Given the description of an element on the screen output the (x, y) to click on. 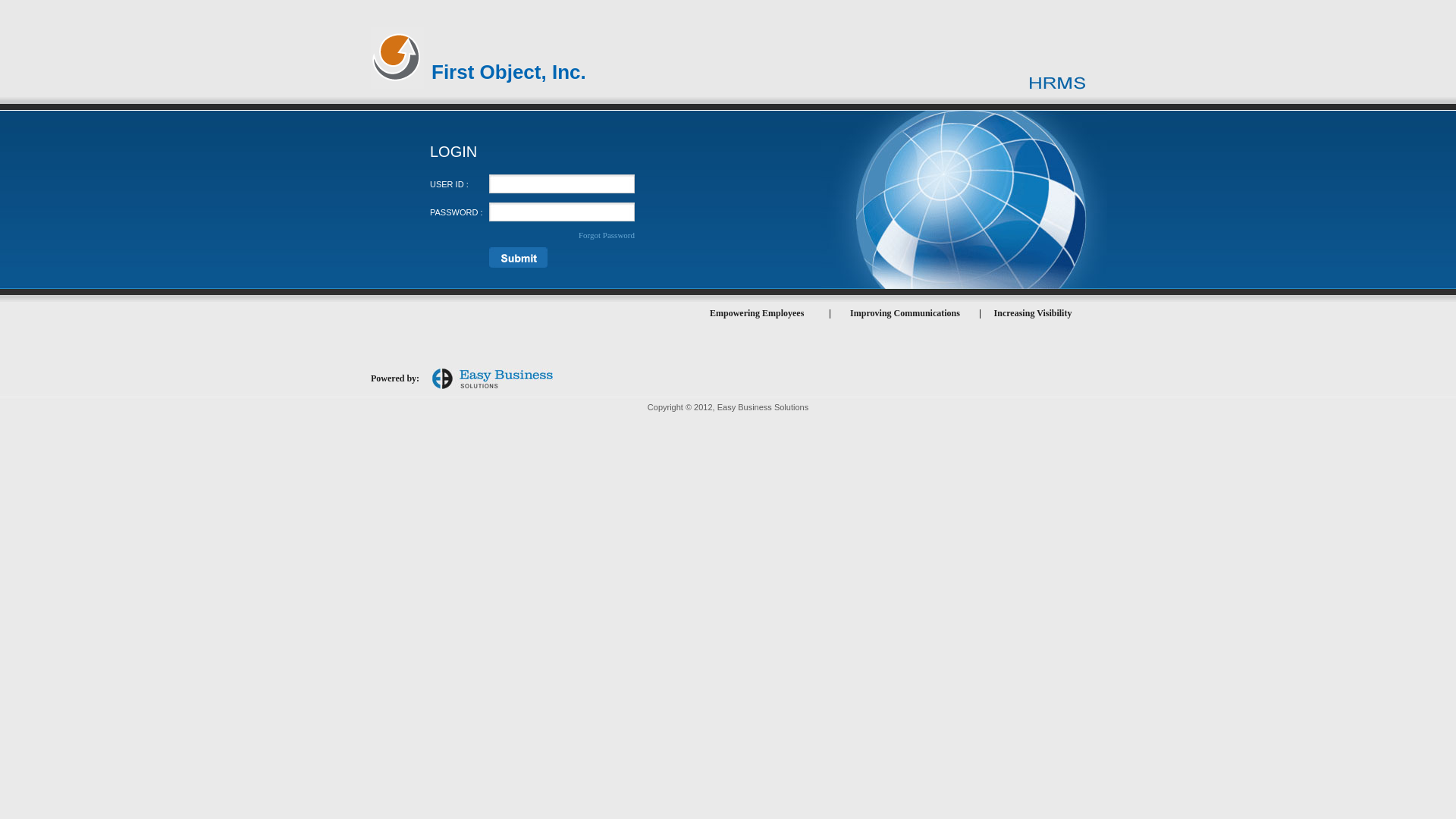
Forgot Password Element type: text (606, 234)
